Given the description of an element on the screen output the (x, y) to click on. 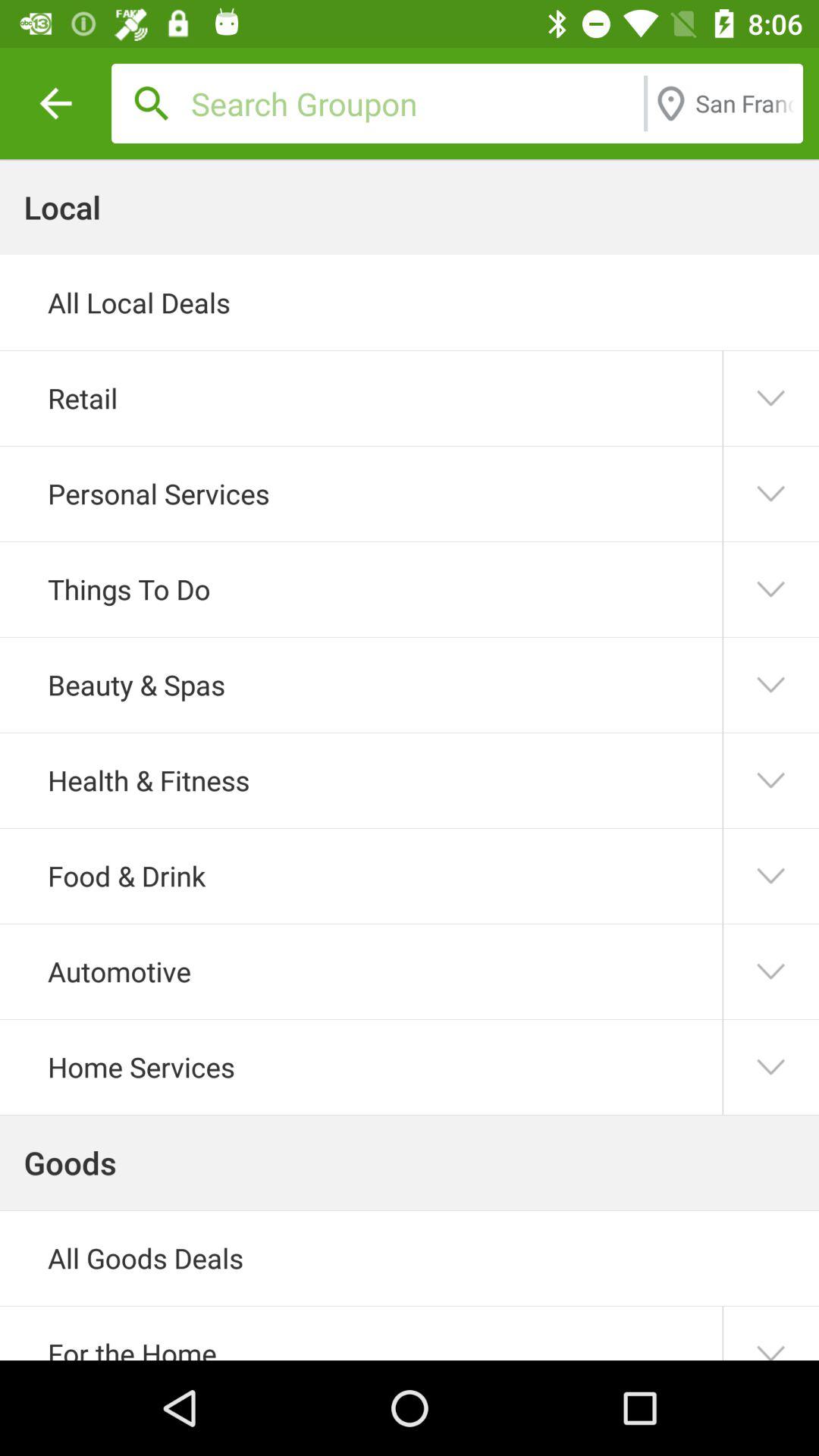
tap icon above the all local deals (413, 103)
